Given the description of an element on the screen output the (x, y) to click on. 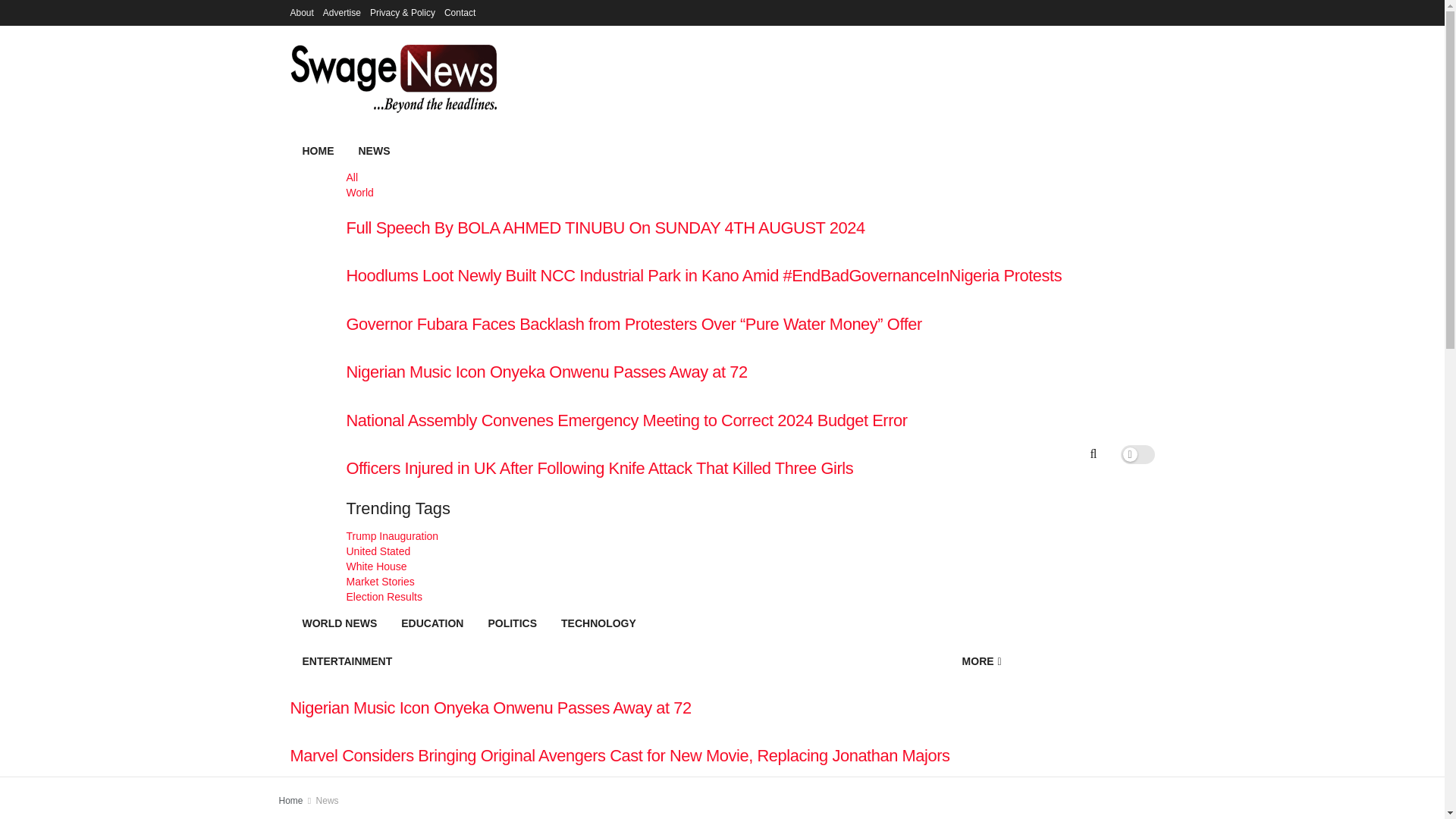
About (301, 12)
Contact (460, 12)
Trump Inauguration (703, 535)
NEWS (703, 150)
Full Speech By BOLA AHMED TINUBU On SUNDAY 4TH AUGUST 2024 (703, 228)
World (703, 192)
Nigerian Music Icon Onyeka Onwenu Passes Away at 72 (619, 708)
Market Stories (703, 581)
Election Results (703, 596)
United Stated (703, 550)
HOME (317, 150)
White House (703, 566)
MORE (980, 661)
